Given the description of an element on the screen output the (x, y) to click on. 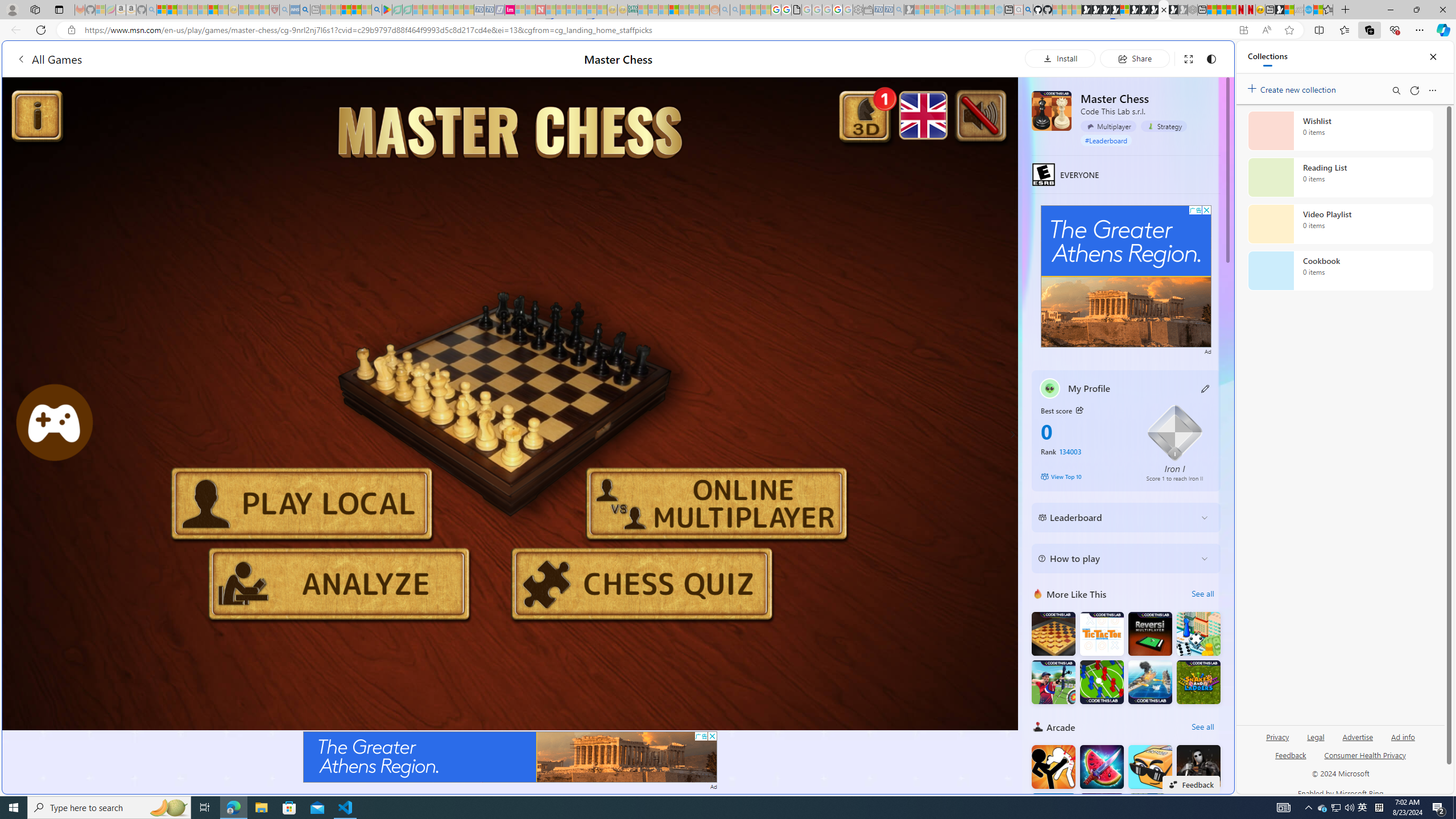
Share (1134, 58)
See all (1202, 726)
Bluey: Let's Play! - Apps on Google Play (387, 9)
Play Cave FRVR in your browser | Games from Microsoft Start (1105, 9)
google_privacy_policy_zh-CN.pdf (796, 9)
